Given the description of an element on the screen output the (x, y) to click on. 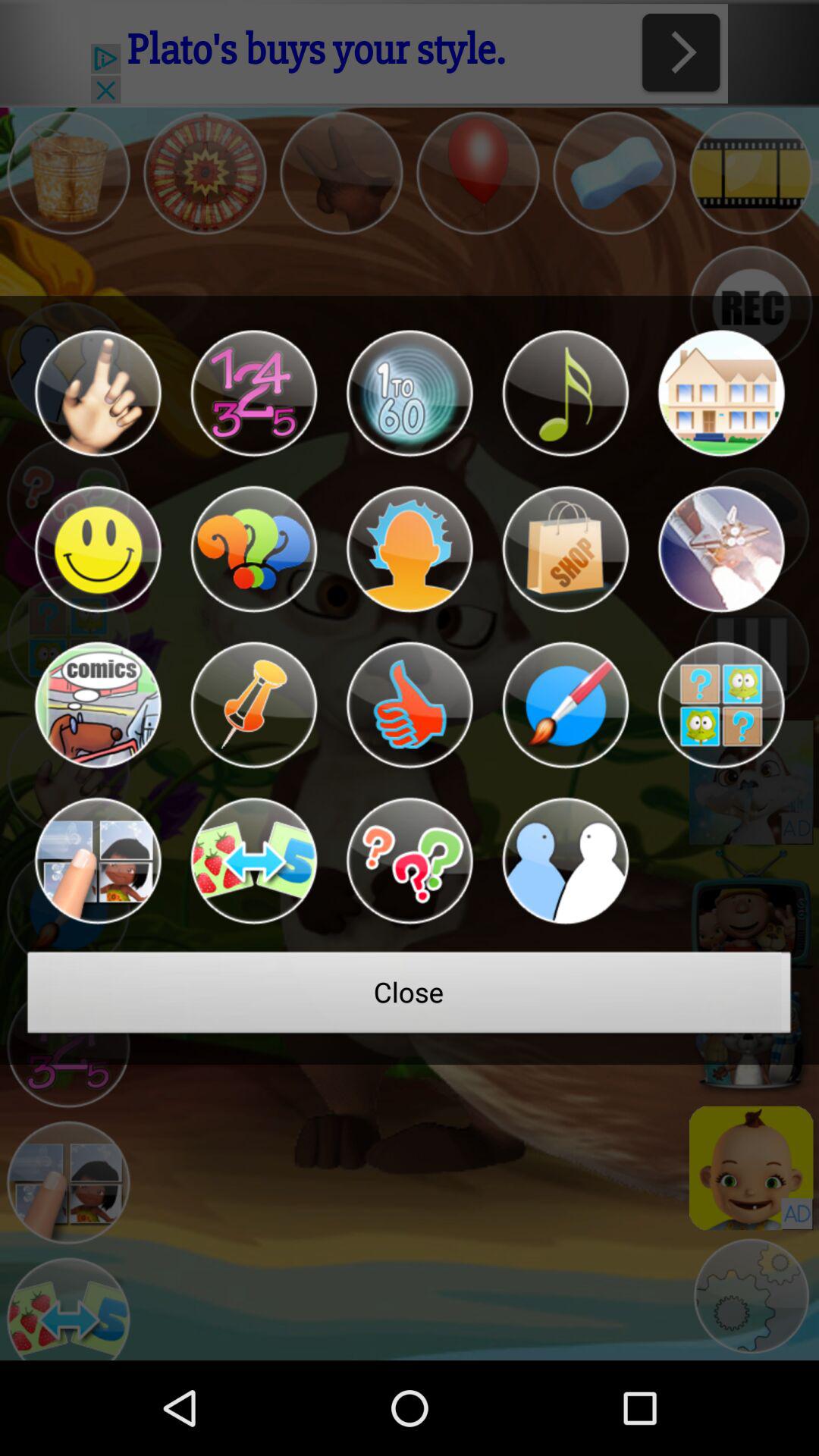
multiplayer (565, 861)
